Given the description of an element on the screen output the (x, y) to click on. 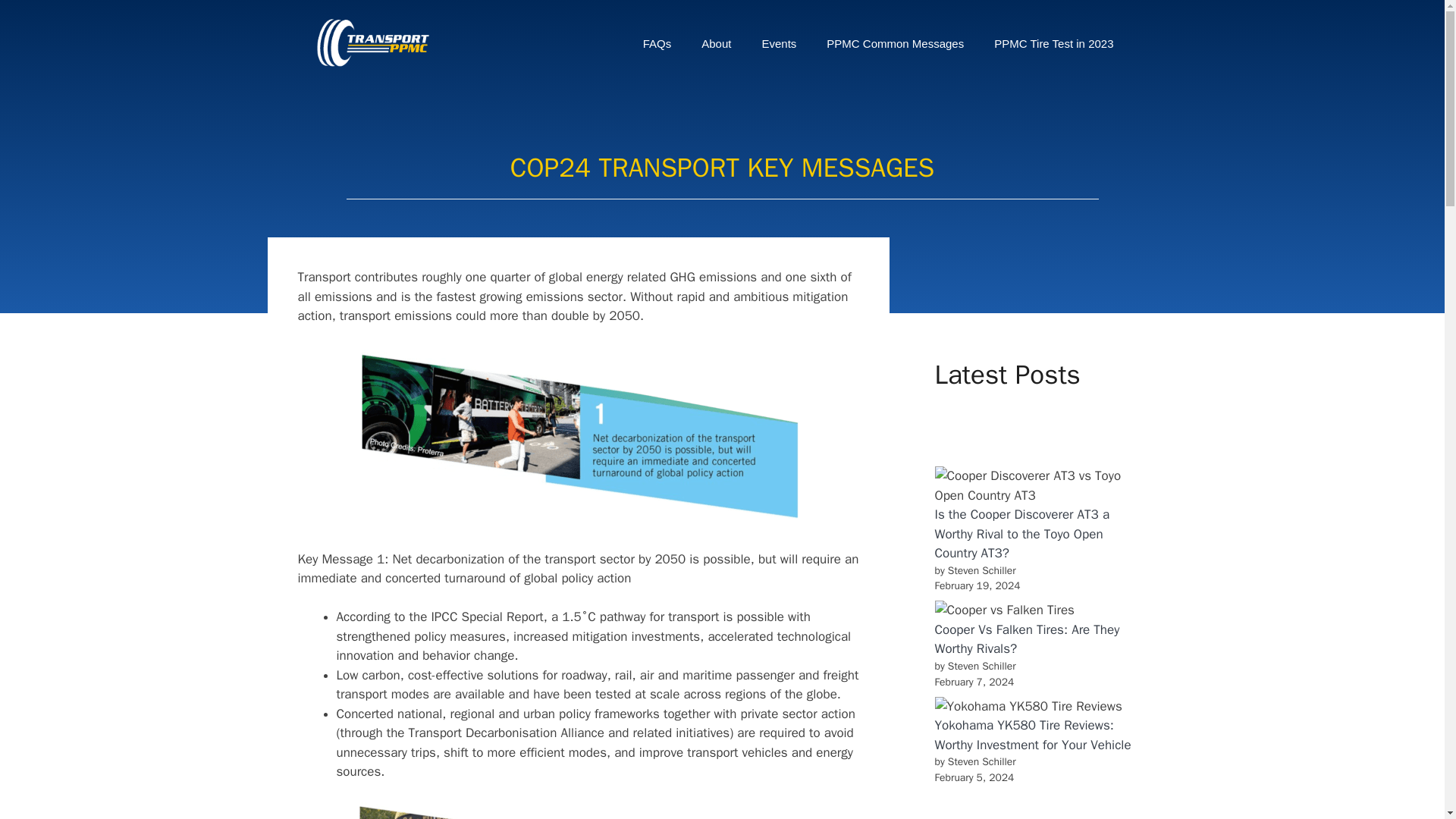
FAQs (657, 43)
Events (777, 43)
PPMC Common Messages (894, 43)
PPMC Tire Test in 2023 (1053, 43)
About (715, 43)
Cooper Vs Falken Tires: Are They Worthy Rivals? (1026, 639)
